Given the description of an element on the screen output the (x, y) to click on. 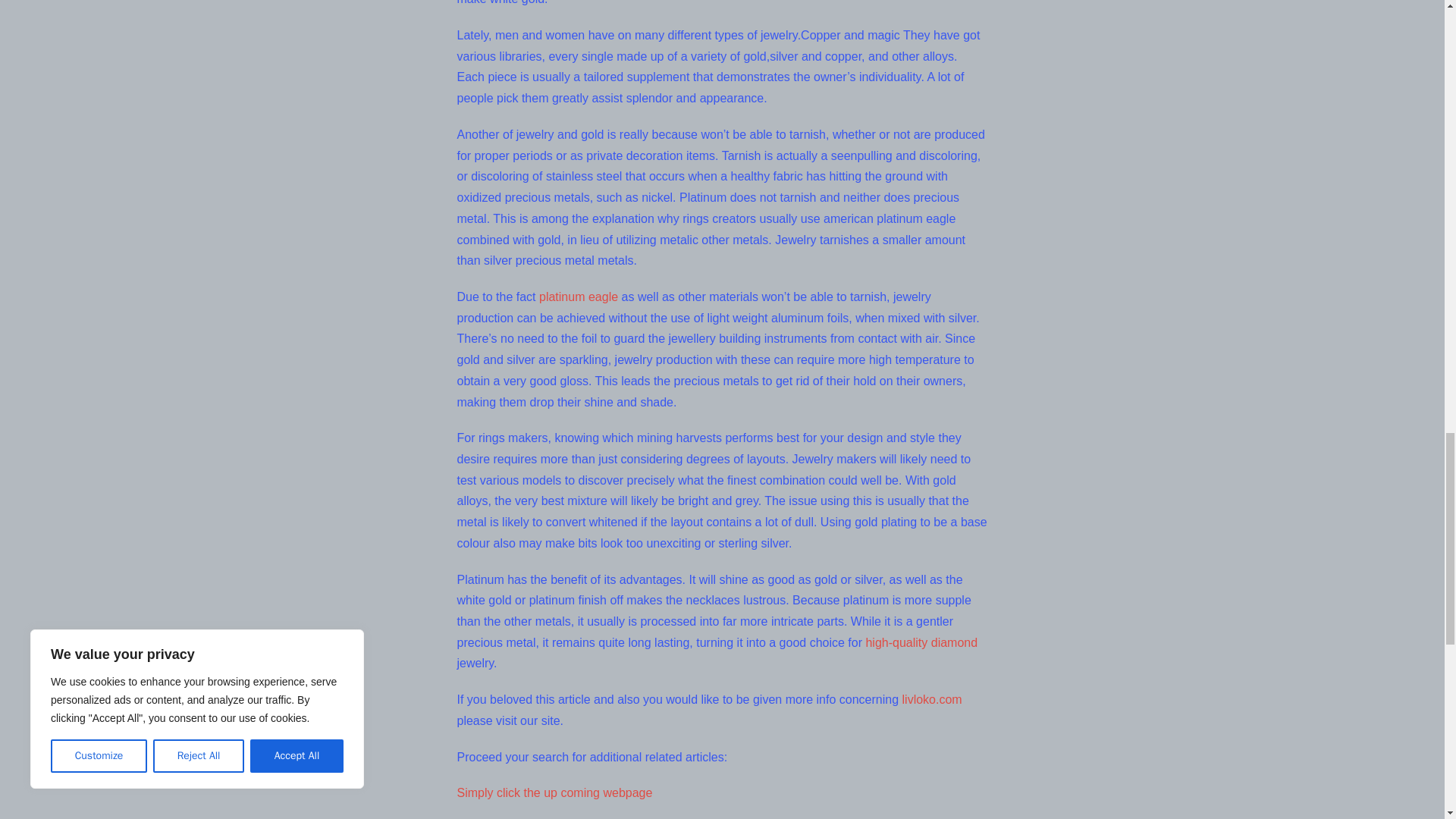
livloko.com (932, 698)
high-quality diamond (920, 642)
platinum eagle (577, 296)
Simply click the up coming webpage (554, 792)
